Given the description of an element on the screen output the (x, y) to click on. 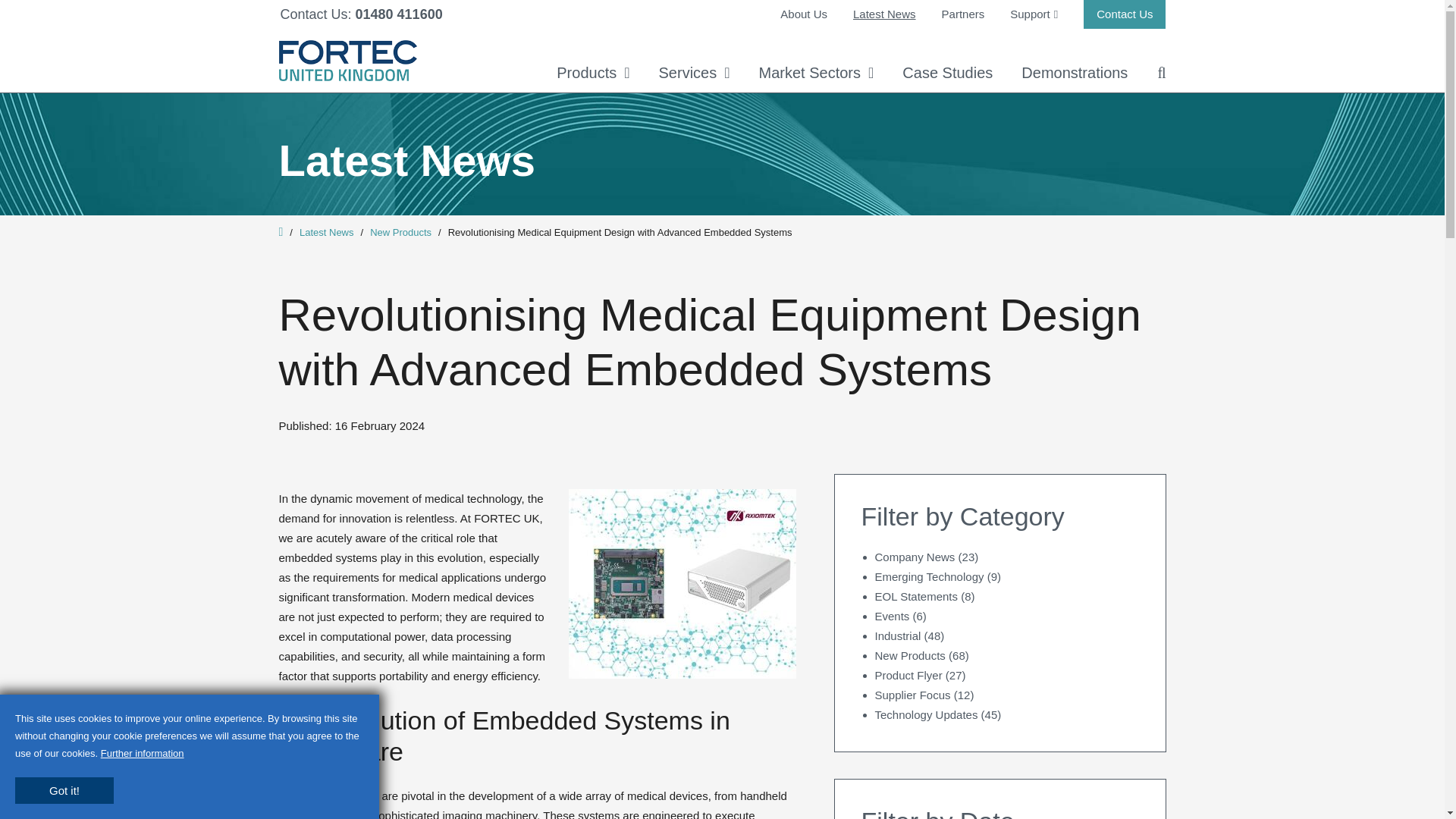
Support (1034, 13)
Partners (963, 13)
Contact Us (1124, 13)
About Us (803, 13)
Latest News (884, 13)
Products (592, 72)
